Given the description of an element on the screen output the (x, y) to click on. 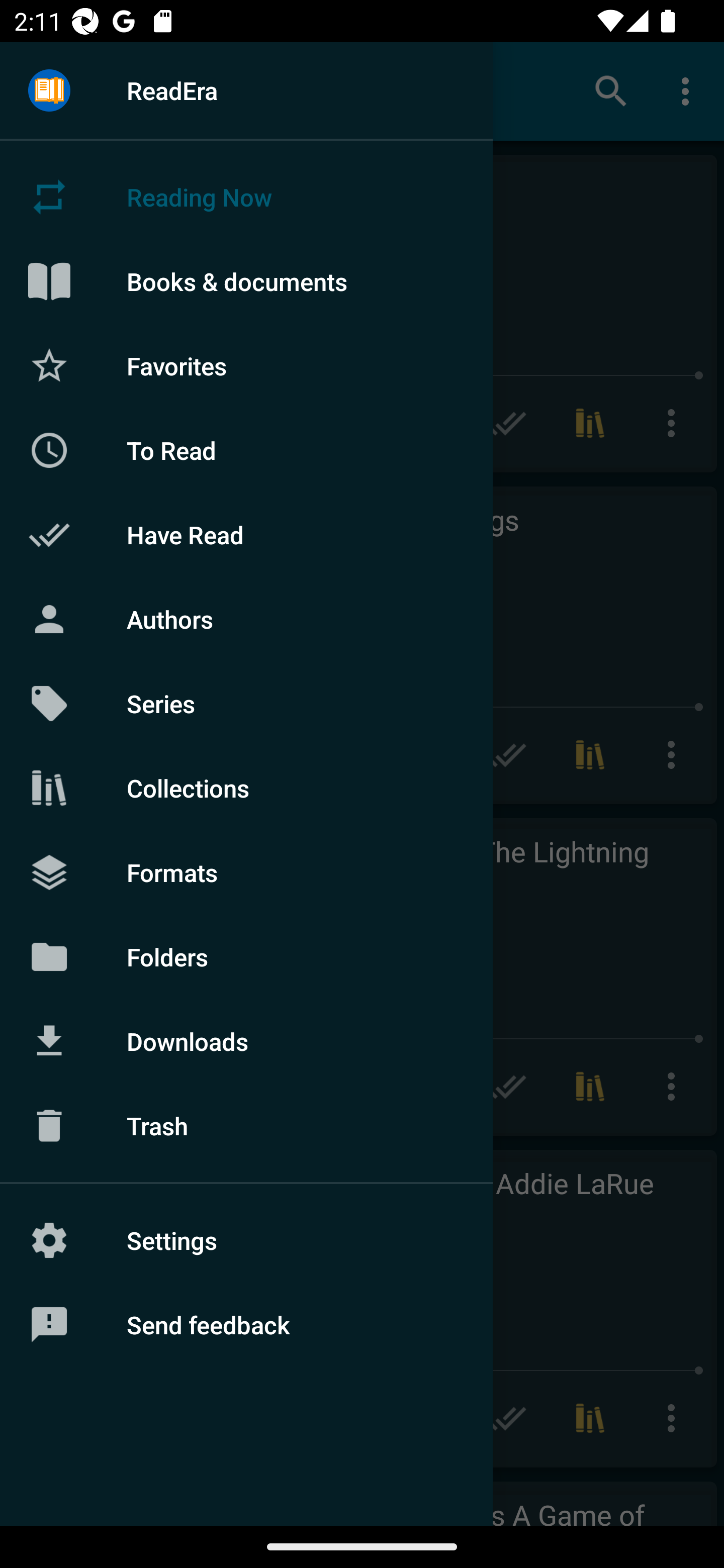
Menu (49, 91)
ReadEra (246, 89)
Search books & documents (611, 90)
More options (688, 90)
Reading Now (246, 197)
Books & documents (246, 281)
Favorites (246, 365)
To Read (246, 449)
Have Read (246, 534)
Authors (246, 619)
Series (246, 703)
Collections (246, 787)
Formats (246, 871)
Folders (246, 956)
Downloads (246, 1040)
Trash (246, 1125)
Settings (246, 1239)
Send feedback (246, 1324)
